Given the description of an element on the screen output the (x, y) to click on. 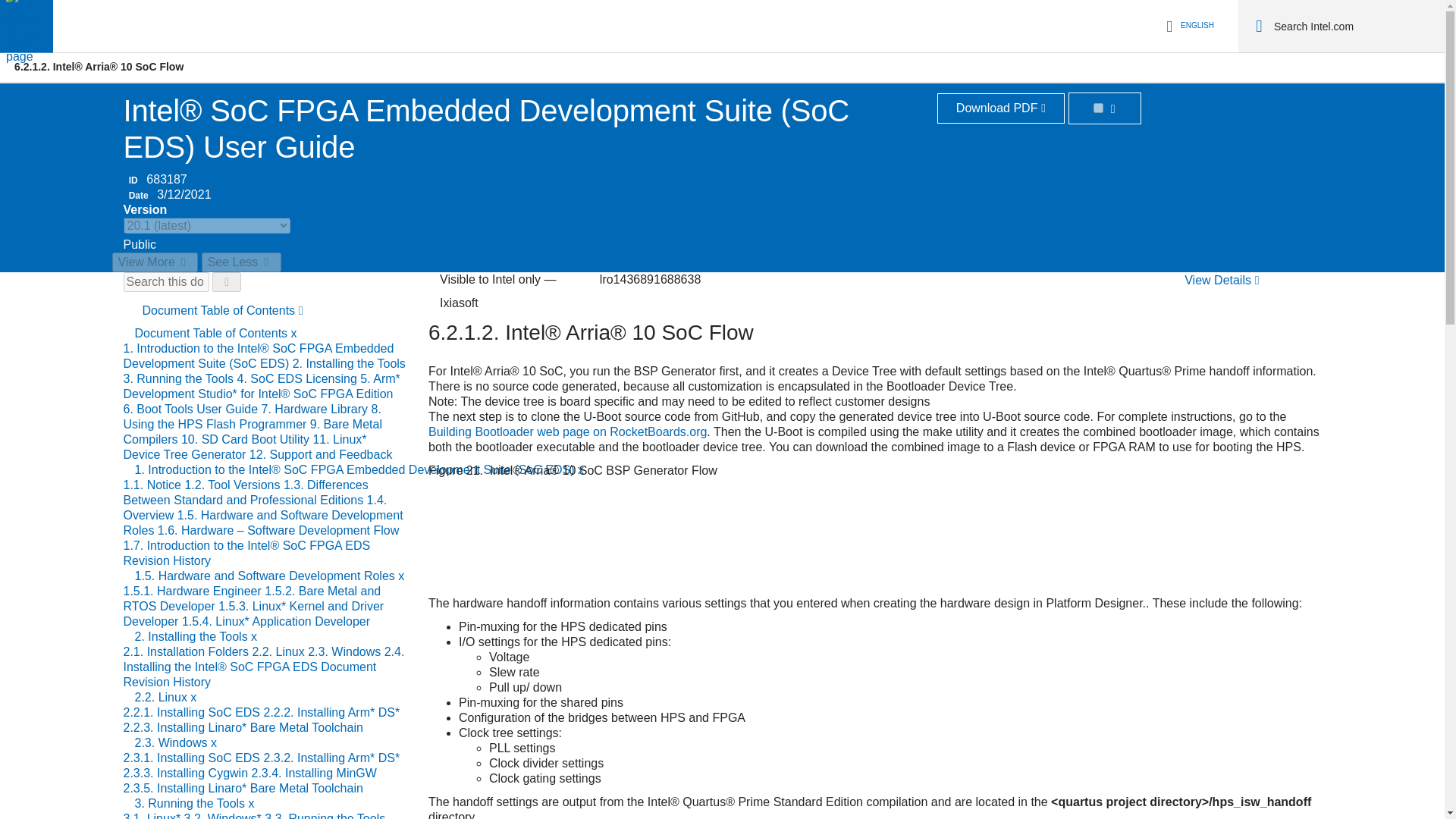
Language Selector (1187, 26)
on (1098, 108)
Search (1259, 26)
ENGLISH (1187, 26)
